Given the description of an element on the screen output the (x, y) to click on. 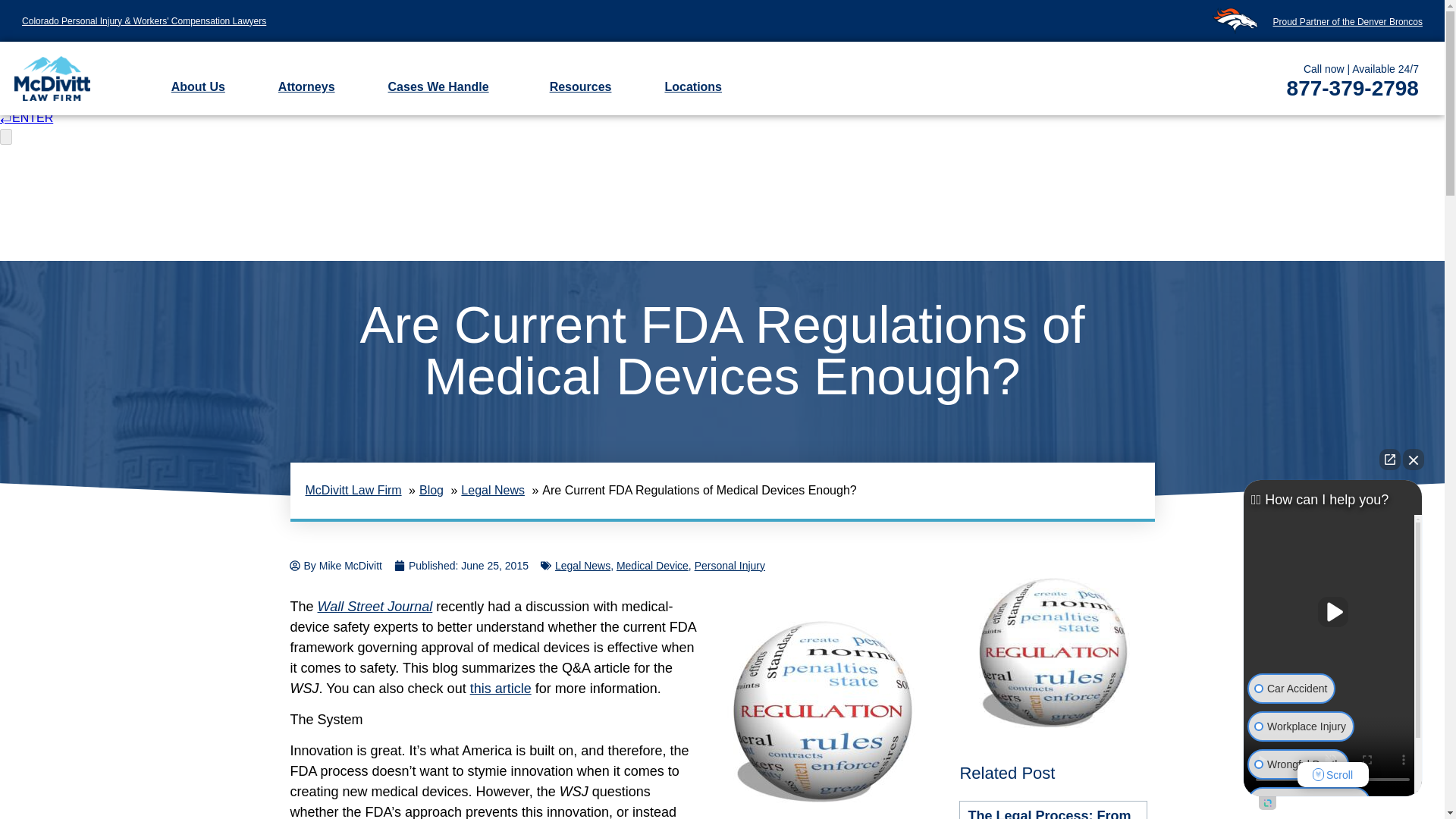
Locations (696, 86)
Cases We Handle (442, 86)
Resources (580, 86)
Attorneys (306, 86)
Proud Partner of the Denver Broncos (1347, 21)
877-379-2798 (1273, 88)
About Us (197, 86)
Denver Bronco Logo (1234, 20)
